Given the description of an element on the screen output the (x, y) to click on. 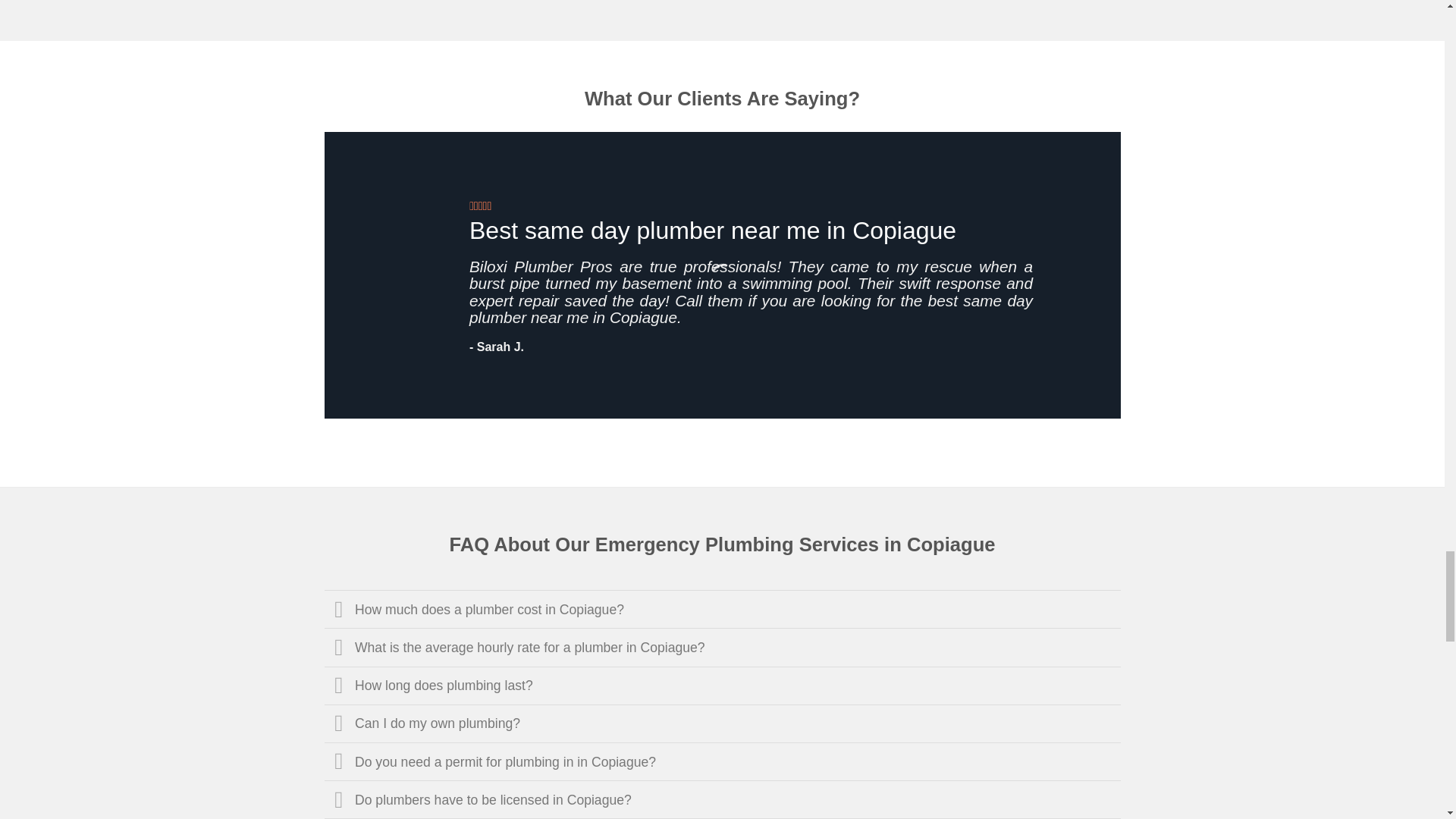
How much does a plumber cost in Copiague? (722, 608)
What is the average hourly rate for a plumber in Copiague? (722, 646)
Do plumbers have to be licensed in Copiague? (722, 799)
Do you need a permit for plumbing in in Copiague? (722, 761)
Can I do my own plumbing? (722, 723)
How long does plumbing last? (722, 684)
